Given the description of an element on the screen output the (x, y) to click on. 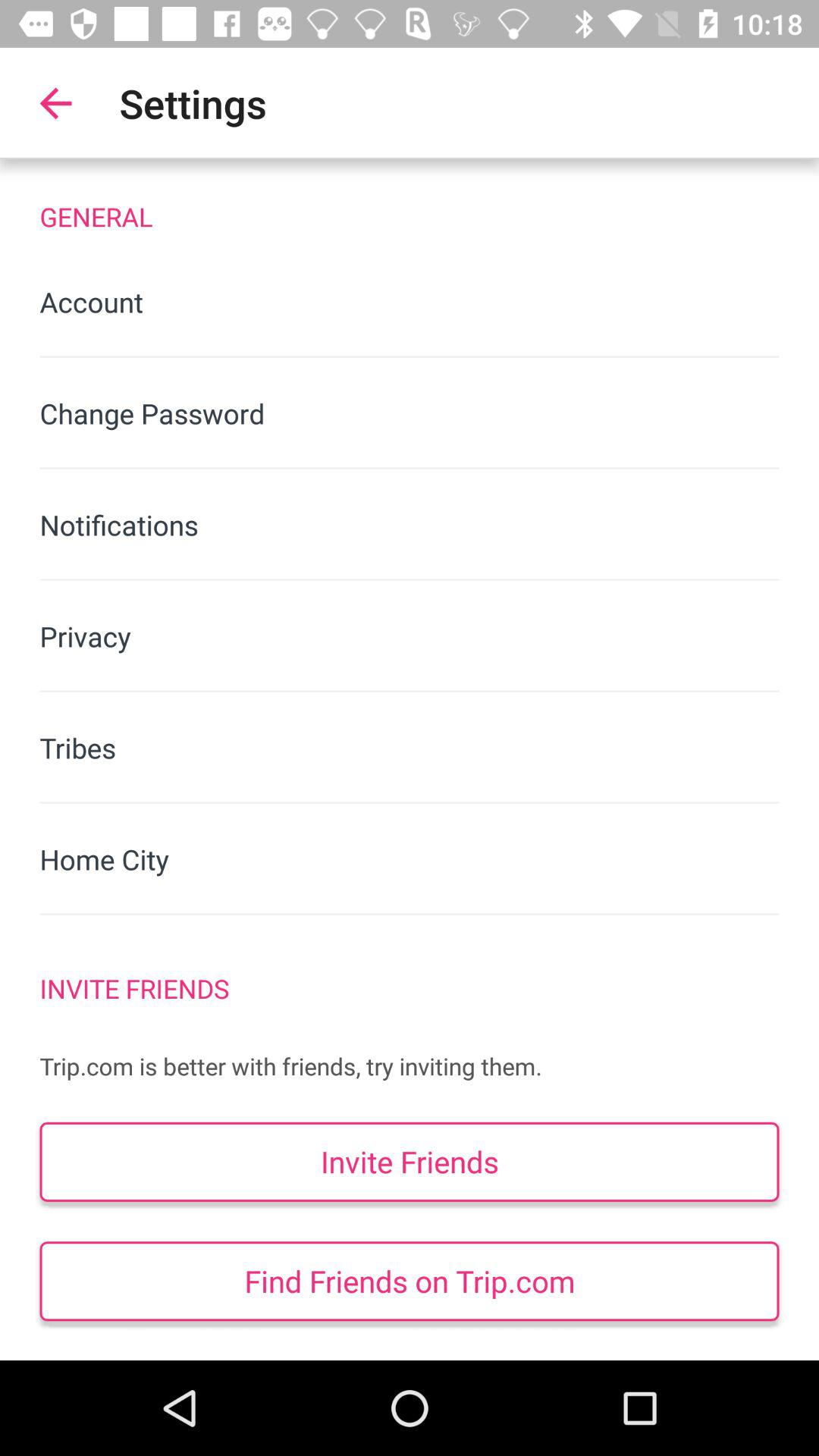
turn on change password item (409, 413)
